Given the description of an element on the screen output the (x, y) to click on. 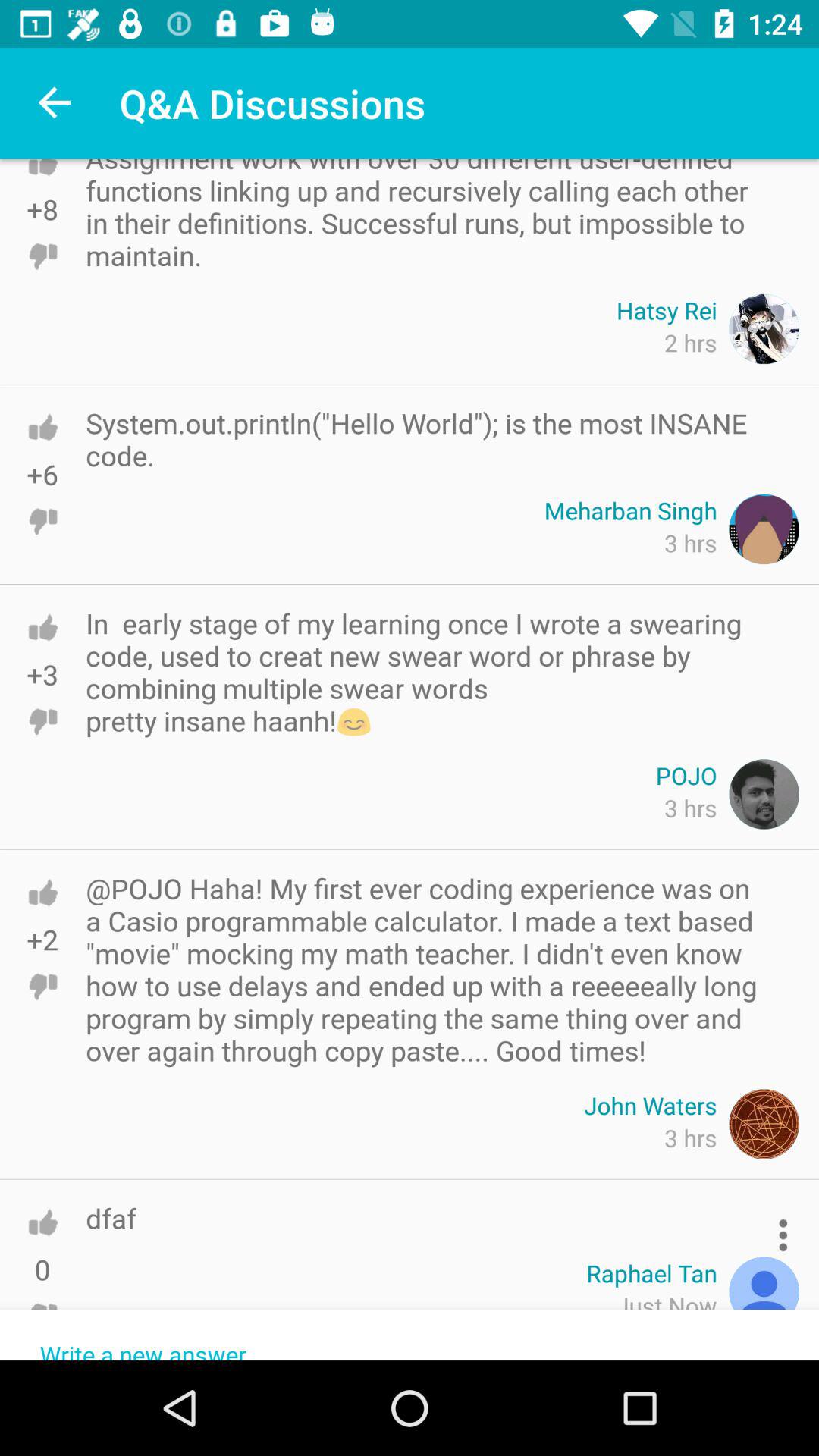
click the unlike (42, 721)
